Given the description of an element on the screen output the (x, y) to click on. 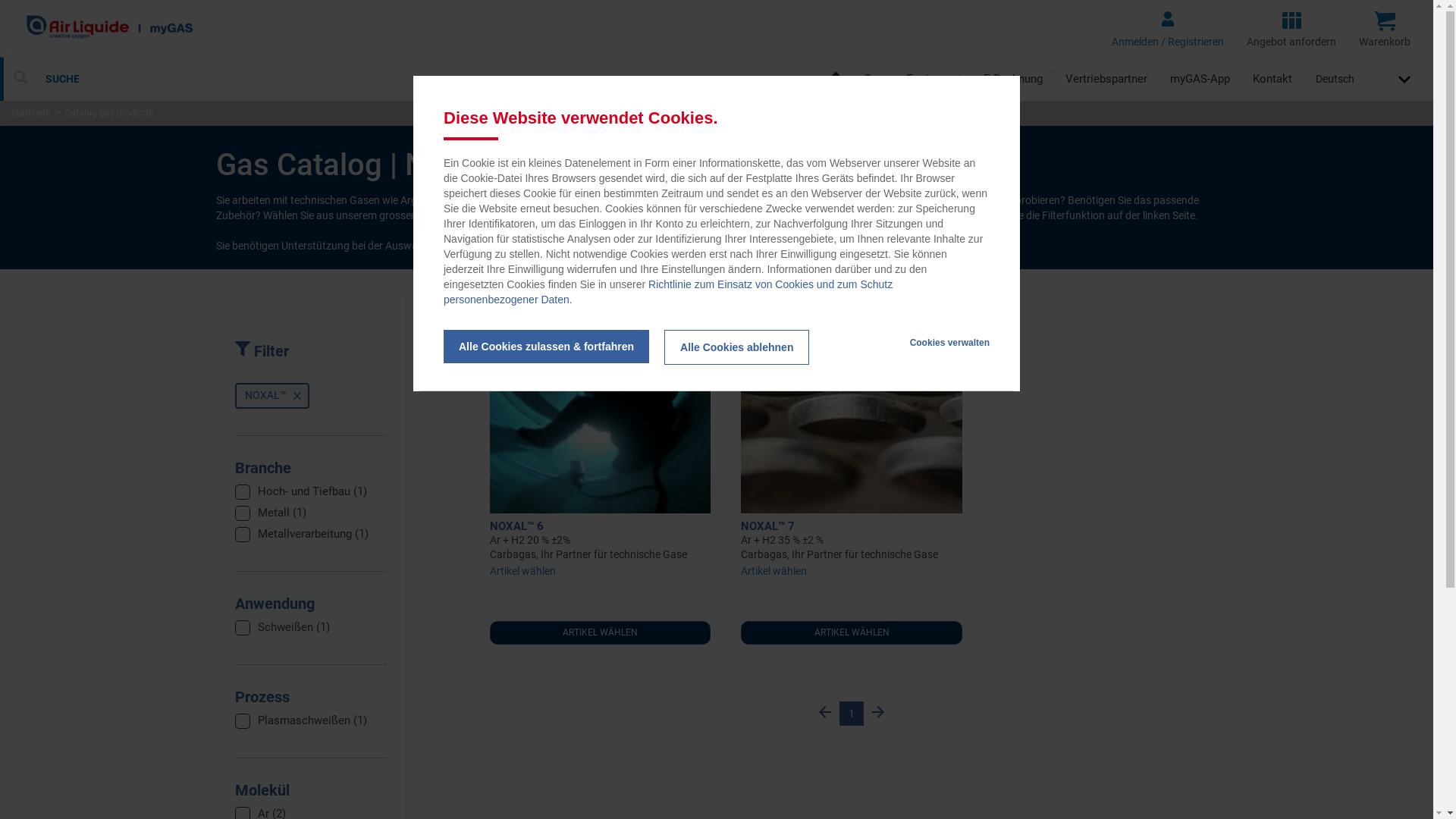
E-Rechnung Element type: text (1013, 79)
Angebot anfordern Element type: text (1291, 28)
Warenkorb Element type: text (1384, 28)
1 Element type: text (851, 713)
Alle Cookies zulassen & fortfahren Element type: text (546, 346)
Alle Cookies ablehnen Element type: text (736, 346)
Hoch- und Tiefbau (1) Element type: text (312, 491)
Startseite Element type: text (30, 112)
Anmelden / Registrieren Element type: text (1167, 28)
Catalog gas products Element type: text (108, 112)
myGAS-App Element type: text (1199, 79)
hier Element type: text (546, 245)
Metallverarbeitung (1) Element type: text (312, 533)
Kontakt Element type: text (1272, 79)
Vertriebspartner Element type: text (1106, 79)
Cookies verwalten Element type: text (949, 342)
Metall (1) Element type: text (281, 512)
Equipment Element type: text (933, 79)
Gas Element type: text (873, 79)
